Given the description of an element on the screen output the (x, y) to click on. 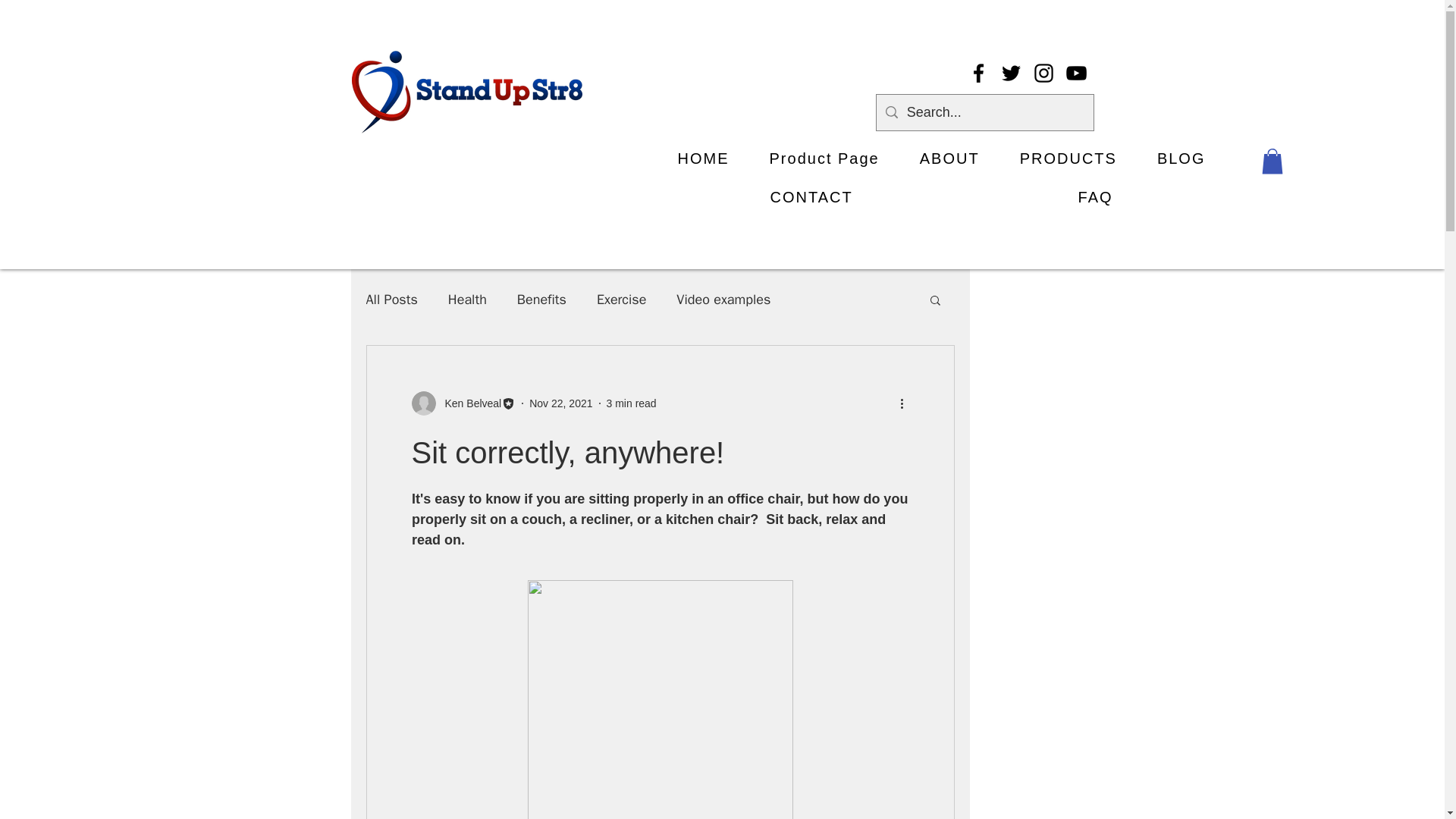
Video examples (723, 299)
FAQ (1095, 196)
All Posts (390, 299)
Product Page (824, 158)
Nov 22, 2021 (560, 403)
Exercise (621, 299)
CONTACT (811, 196)
ABOUT (948, 158)
HOME (703, 158)
Ken Belveal (467, 403)
